Given the description of an element on the screen output the (x, y) to click on. 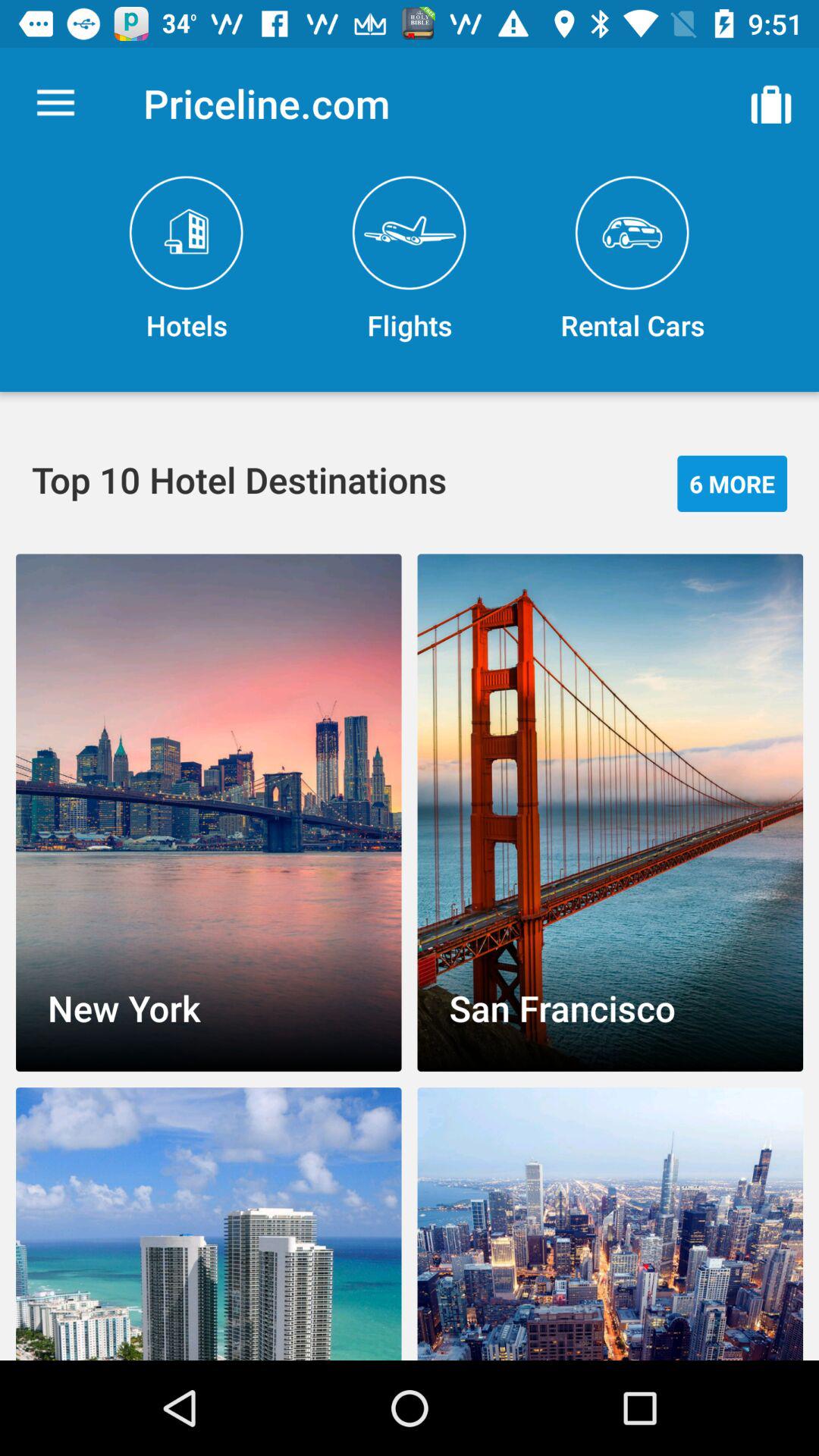
scroll until flights icon (409, 259)
